Given the description of an element on the screen output the (x, y) to click on. 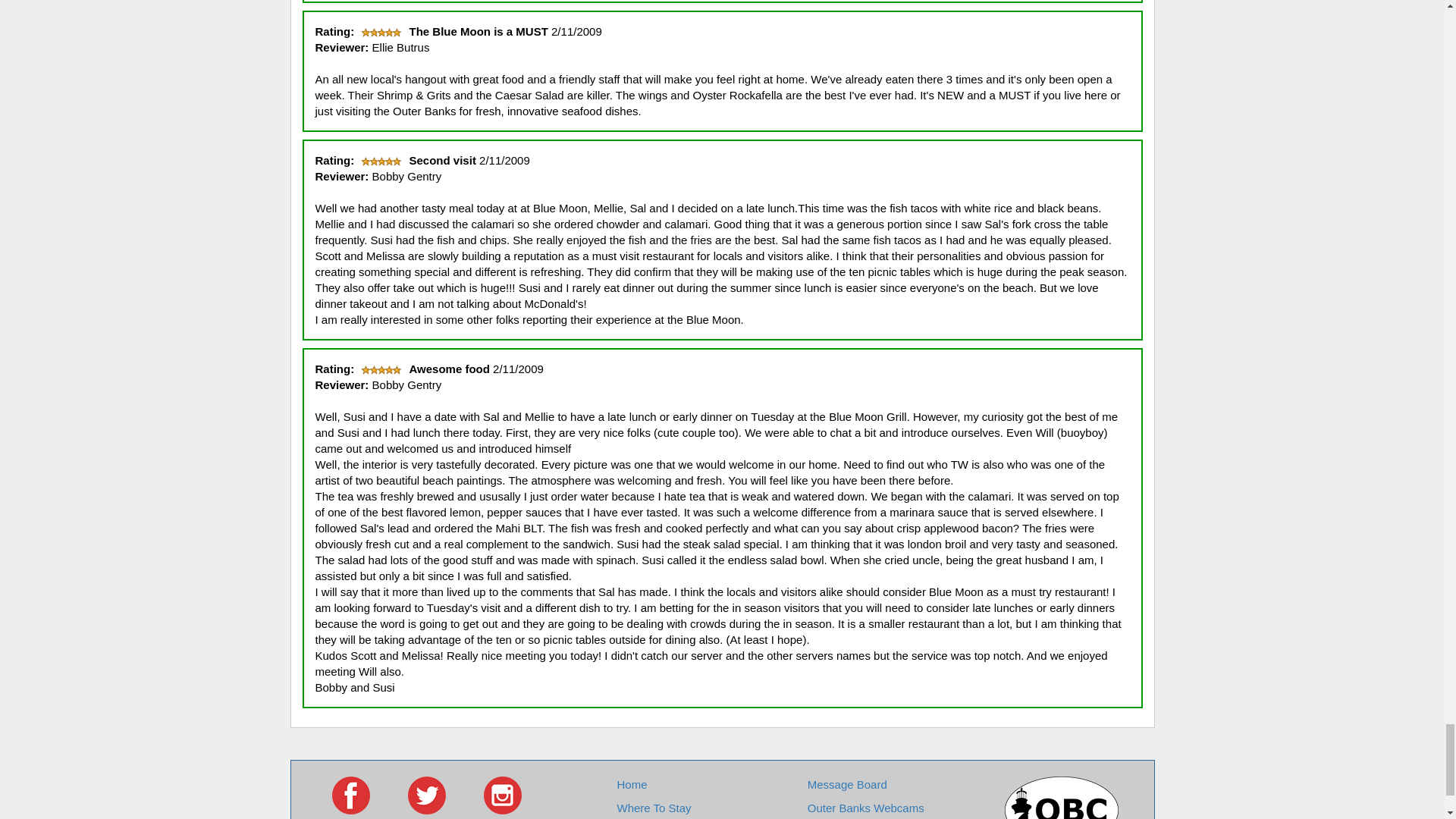
Outer Banks Webcams (866, 807)
Home (630, 784)
Where To Stay (652, 807)
Message Board (847, 784)
